Given the description of an element on the screen output the (x, y) to click on. 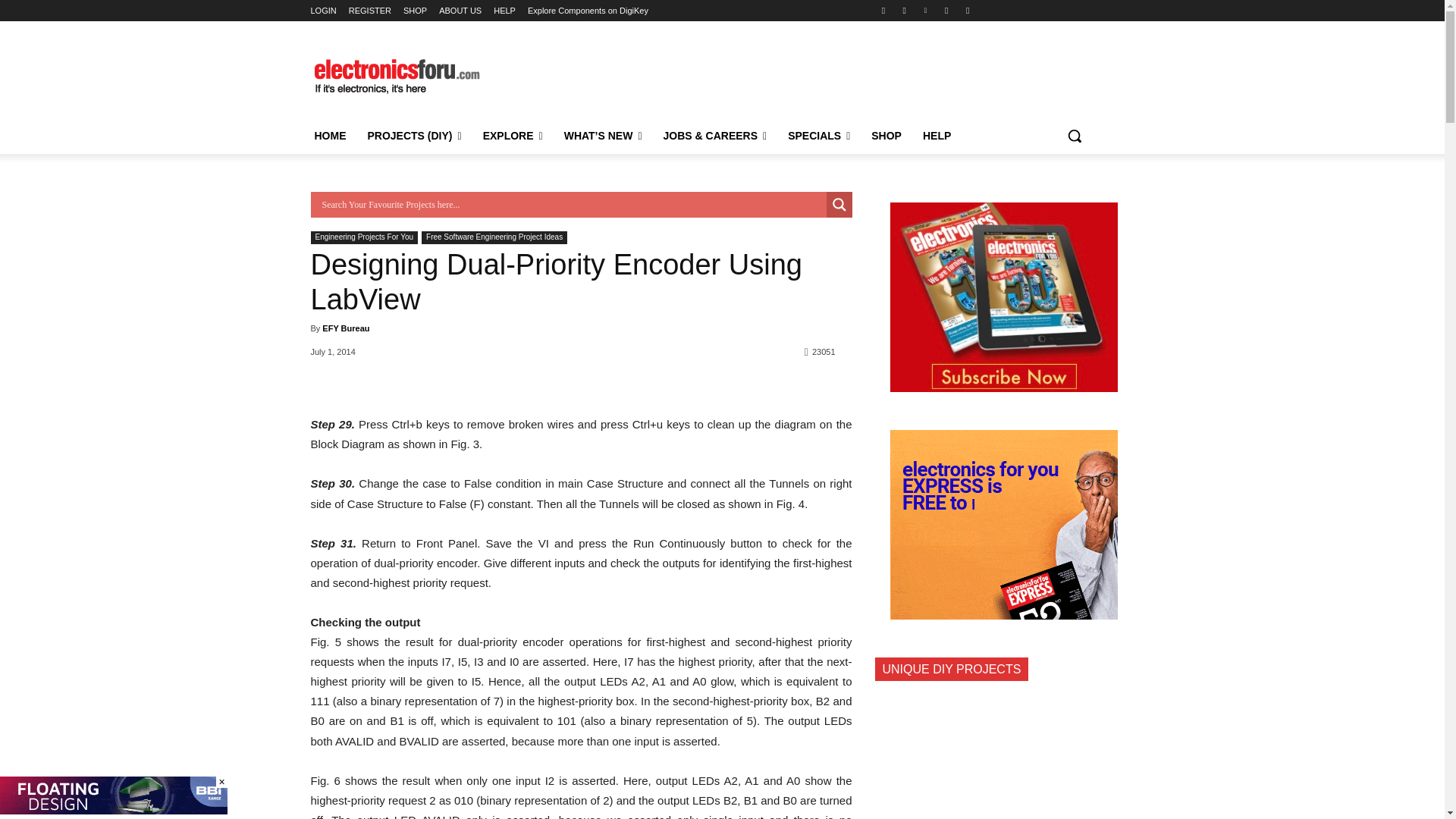
Facebook (883, 9)
Instagram (903, 9)
Linkedin (925, 9)
Youtube (967, 9)
Twitter (946, 9)
